Given the description of an element on the screen output the (x, y) to click on. 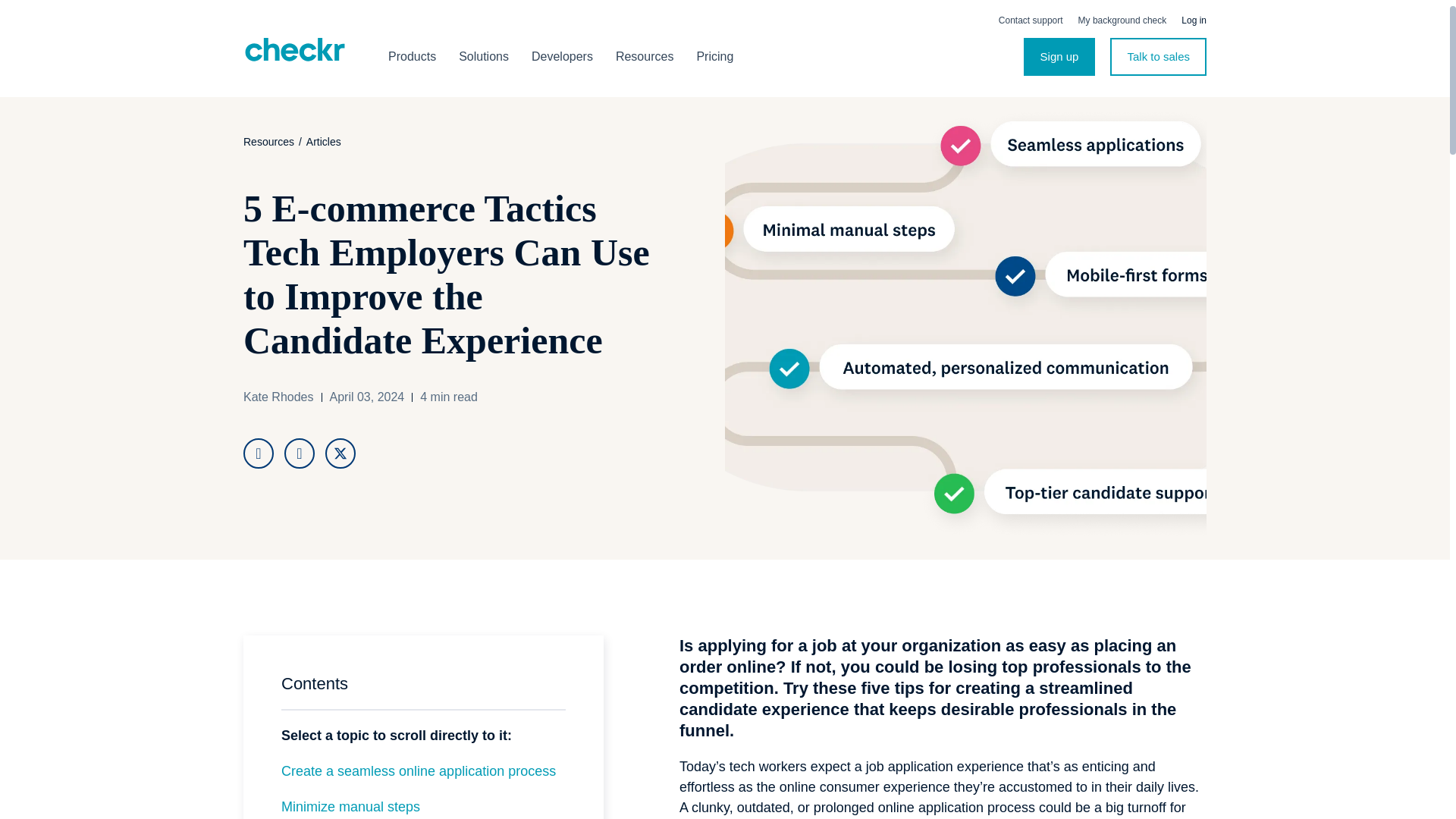
Checkr Home (294, 49)
